Given the description of an element on the screen output the (x, y) to click on. 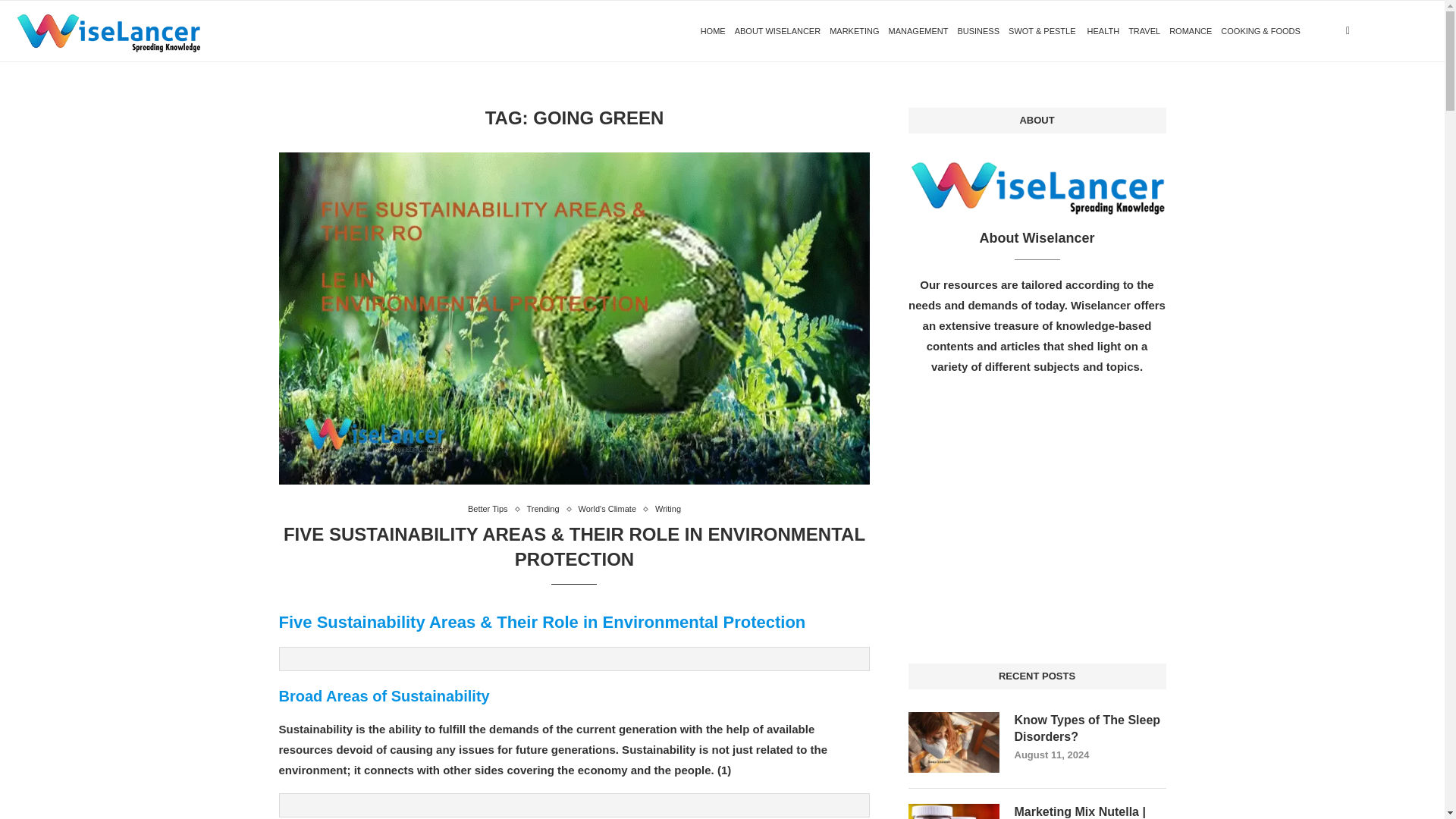
Know Types of The Sleep Disorders? (953, 742)
MANAGEMENT (918, 30)
Better Tips (491, 509)
World's Climate (610, 509)
Know Types of The Sleep Disorders? (1090, 728)
Trending (547, 509)
Writing (668, 509)
ABOUT WISELANCER (778, 30)
